Given the description of an element on the screen output the (x, y) to click on. 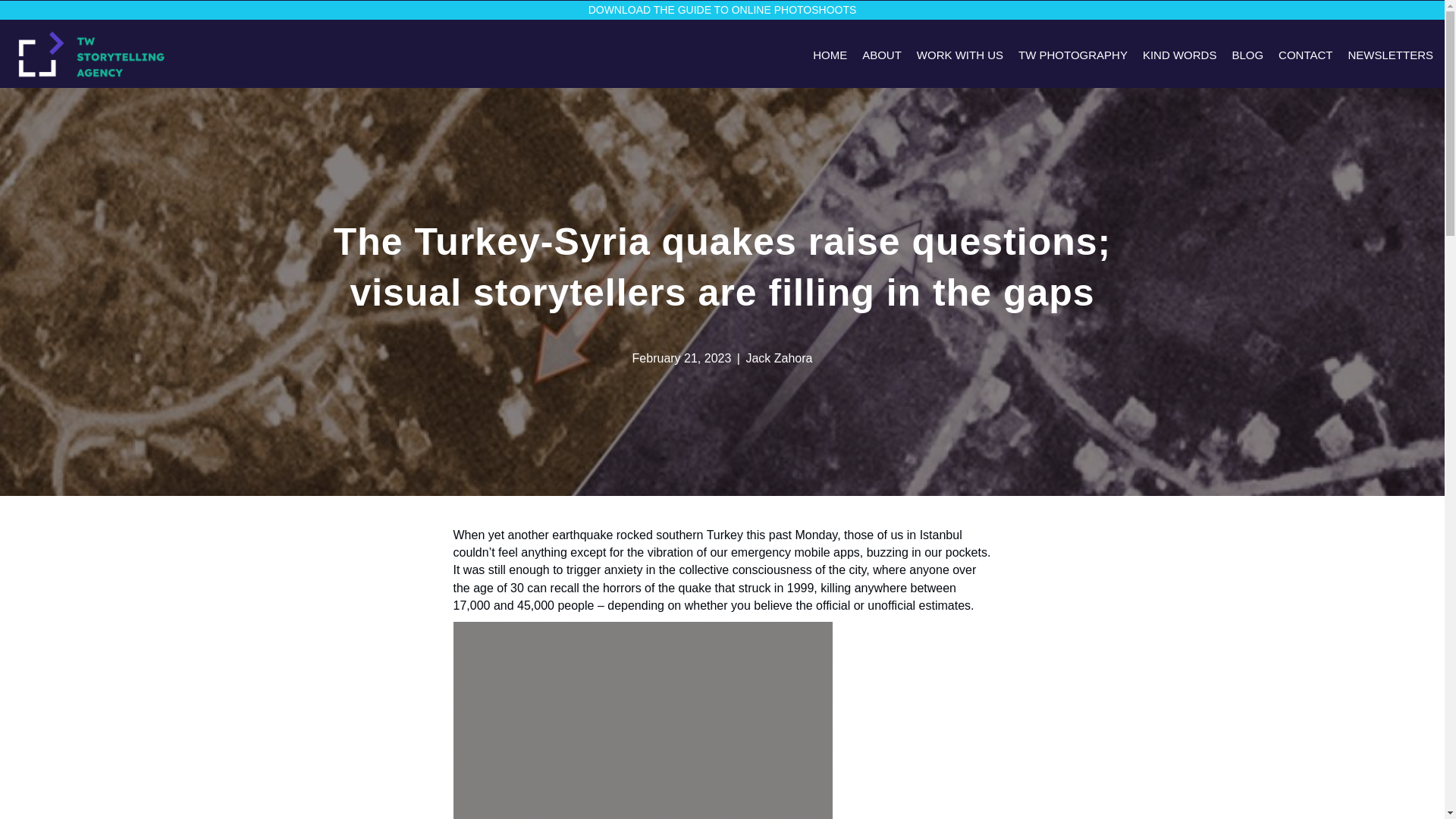
HOME (829, 55)
KIND WORDS (1179, 55)
WORK WITH US (959, 55)
BLOG (1246, 55)
TW PHOTOGRAPHY (1072, 55)
CONTACT (1305, 55)
TaraTW Logo (90, 53)
ABOUT (882, 55)
NEWSLETTERS (1390, 55)
